Given the description of an element on the screen output the (x, y) to click on. 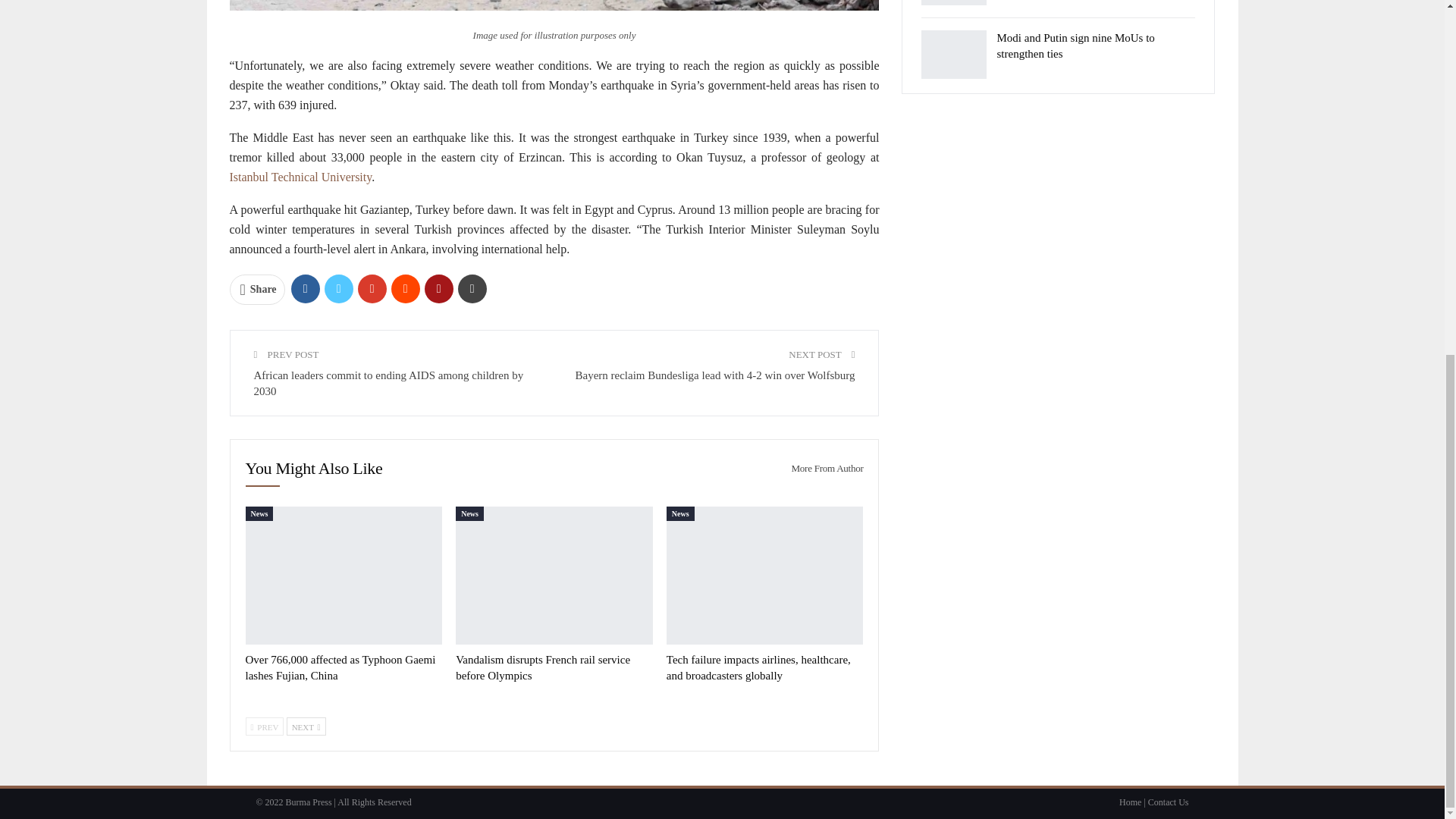
Over 766,000 affected as Typhoon Gaemi lashes Fujian, China (344, 575)
Istanbul Technical University (299, 176)
News (259, 513)
You Might Also Like (314, 469)
Bayern reclaim Bundesliga lead with 4-2 win over Wolfsburg (714, 375)
African leaders commit to ending AIDS among children by 2030 (387, 383)
Previous (264, 726)
Vandalism disrupts French rail service before Olympics (542, 667)
More From Author (820, 468)
Next (306, 726)
Over 766,000 affected as Typhoon Gaemi lashes Fujian, China (340, 667)
Vandalism disrupts French rail service before Olympics (553, 575)
